Given the description of an element on the screen output the (x, y) to click on. 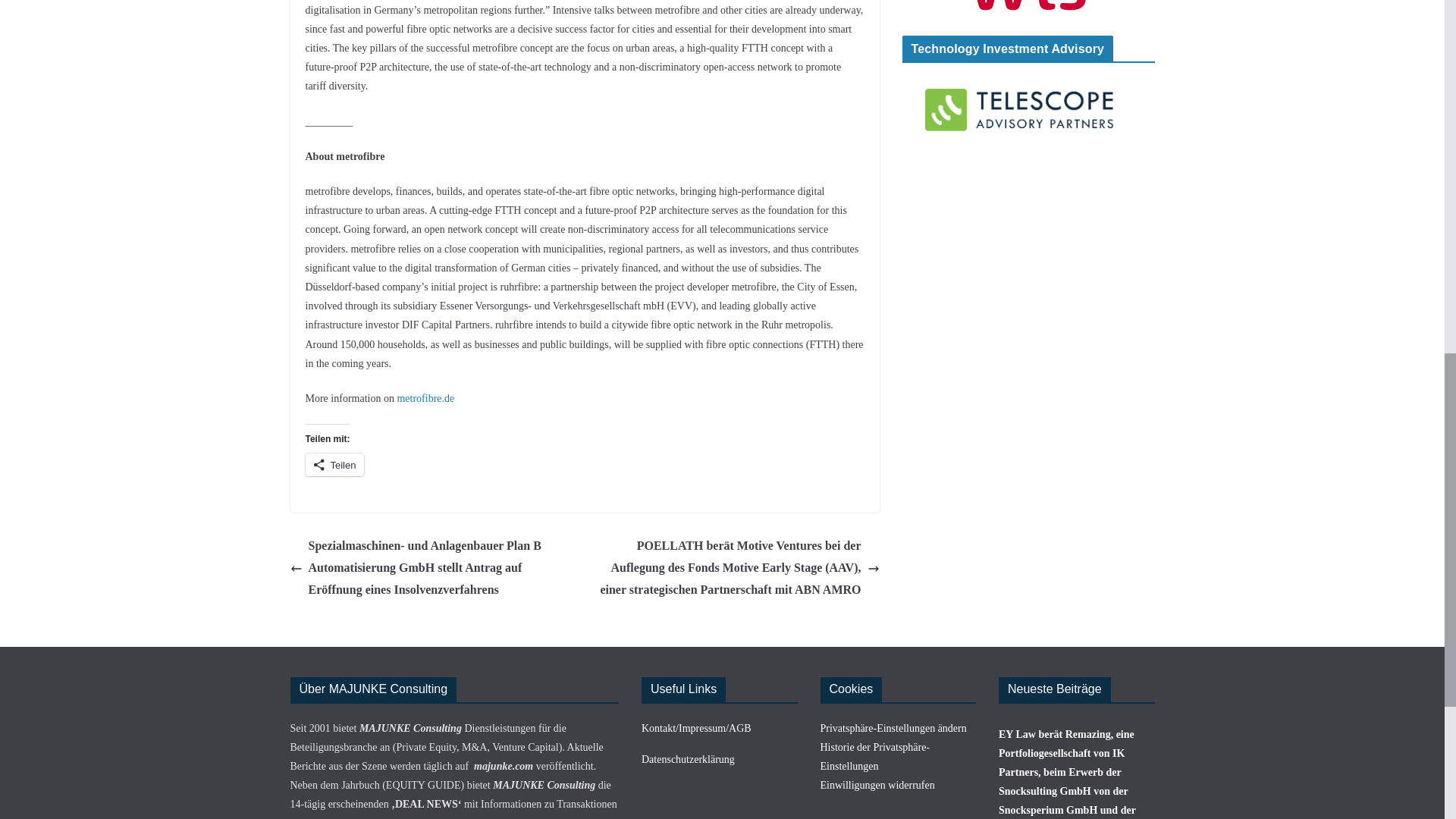
metrofibre.de (425, 398)
Einwilligungen widerrufen (877, 785)
Teilen (334, 464)
